Given the description of an element on the screen output the (x, y) to click on. 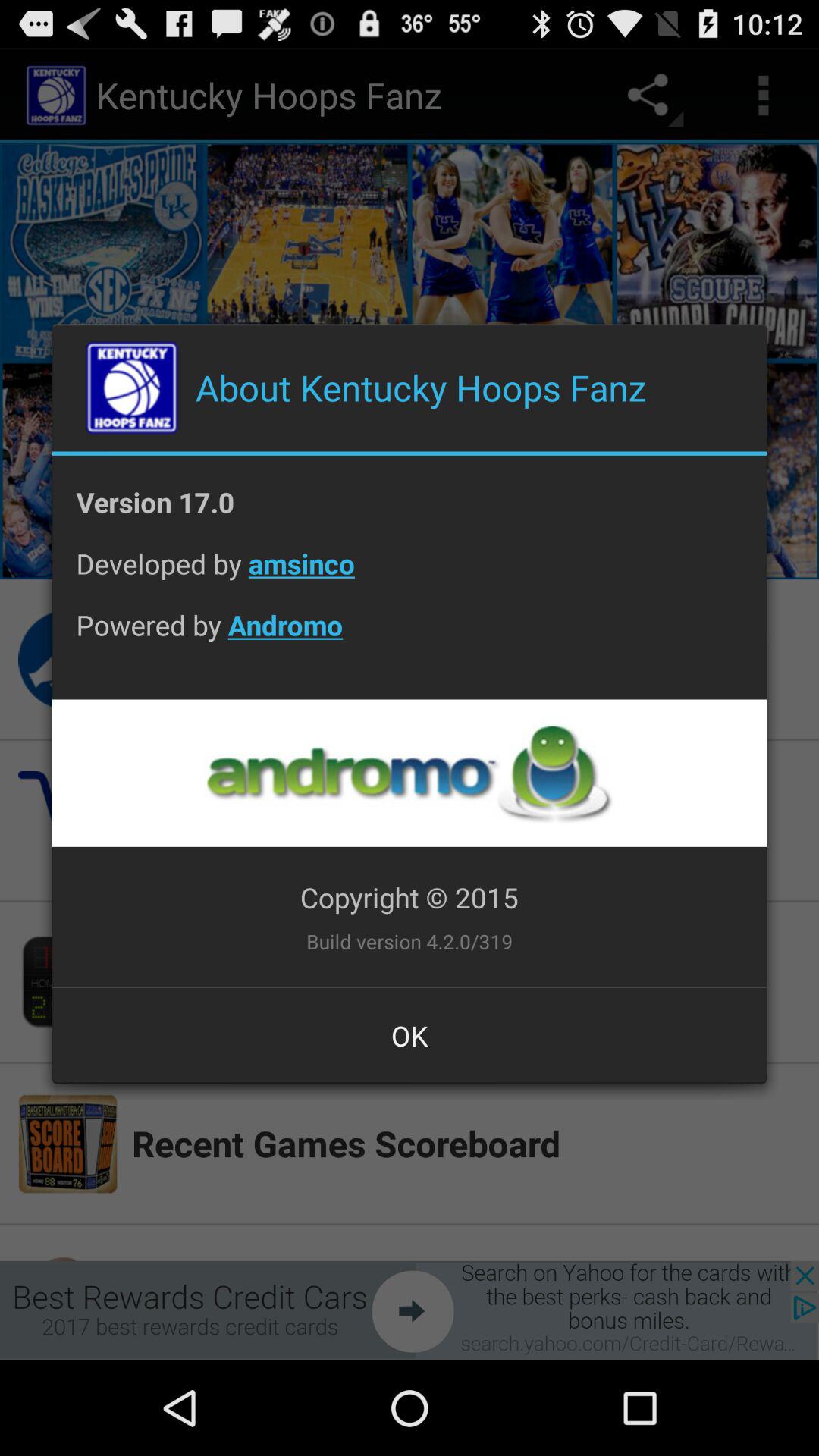
select the ok button (409, 1035)
